Given the description of an element on the screen output the (x, y) to click on. 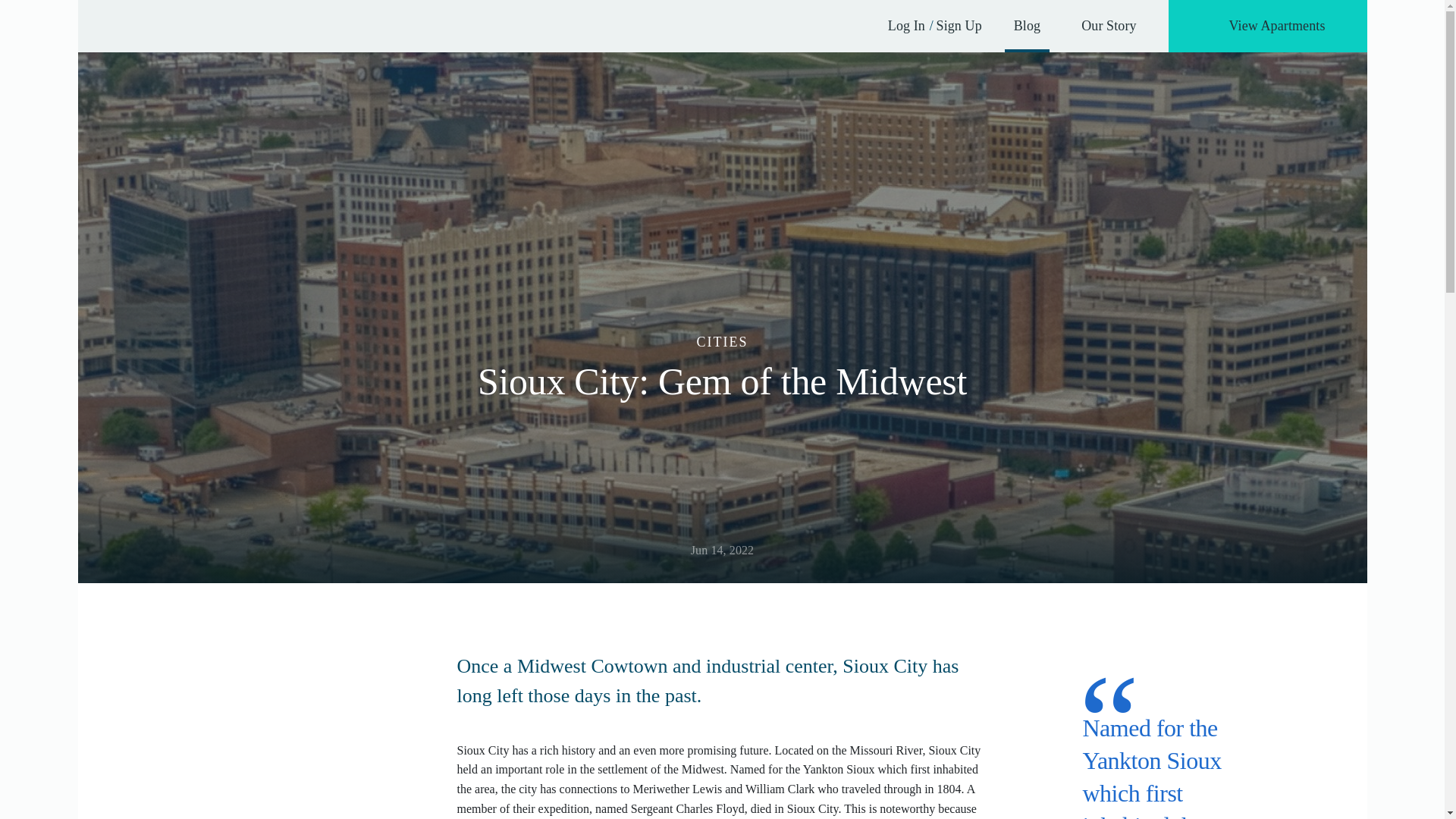
Sign Up (959, 26)
Our Story (1108, 26)
Share via Email (747, 430)
Share On Facebook (695, 431)
Share On Twitter (721, 431)
My Renters Guide - Apartments and Homes for Rent (187, 25)
Blog (1026, 26)
View Apartments (1267, 26)
